Given the description of an element on the screen output the (x, y) to click on. 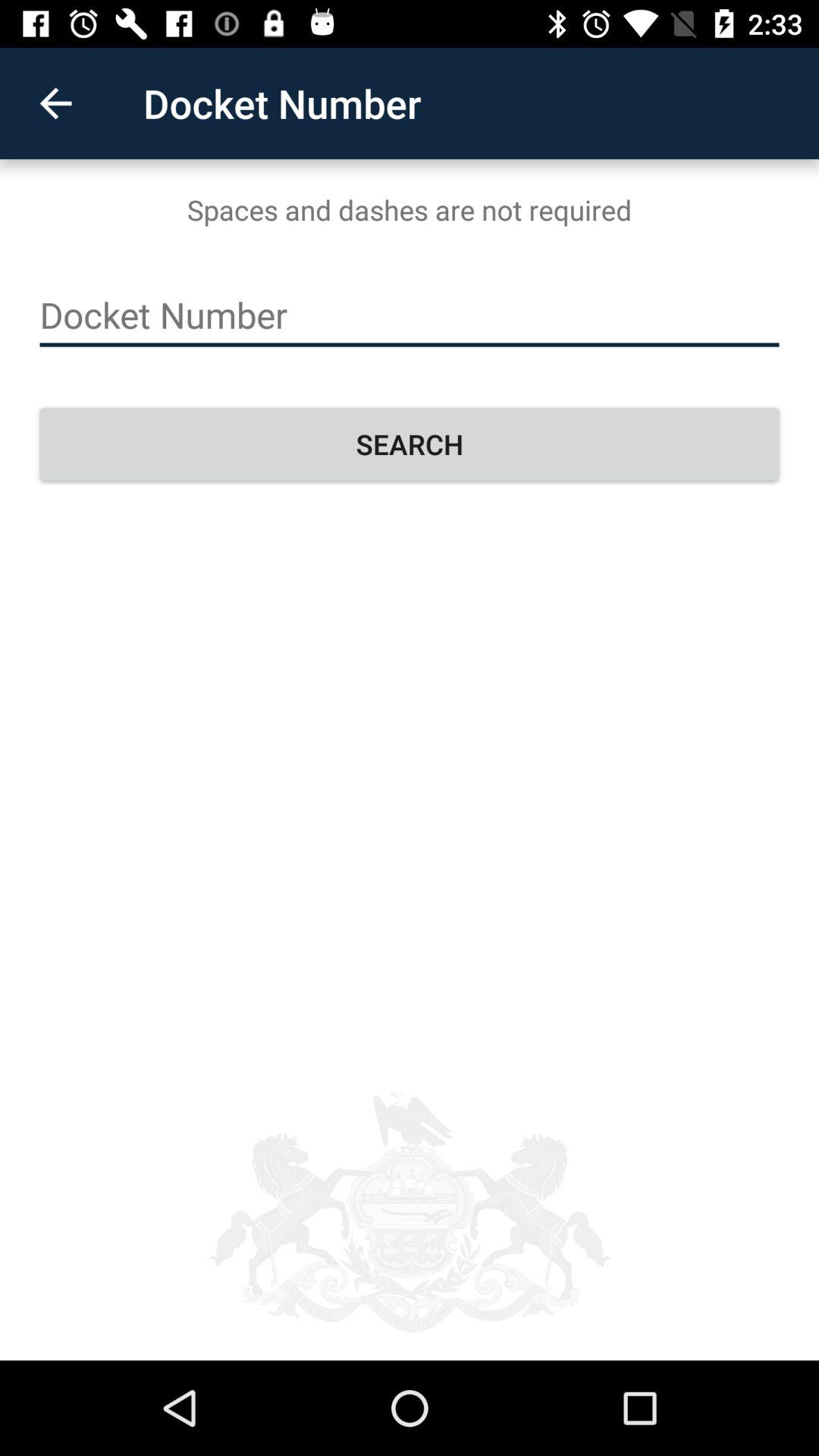
flip until search icon (409, 443)
